Given the description of an element on the screen output the (x, y) to click on. 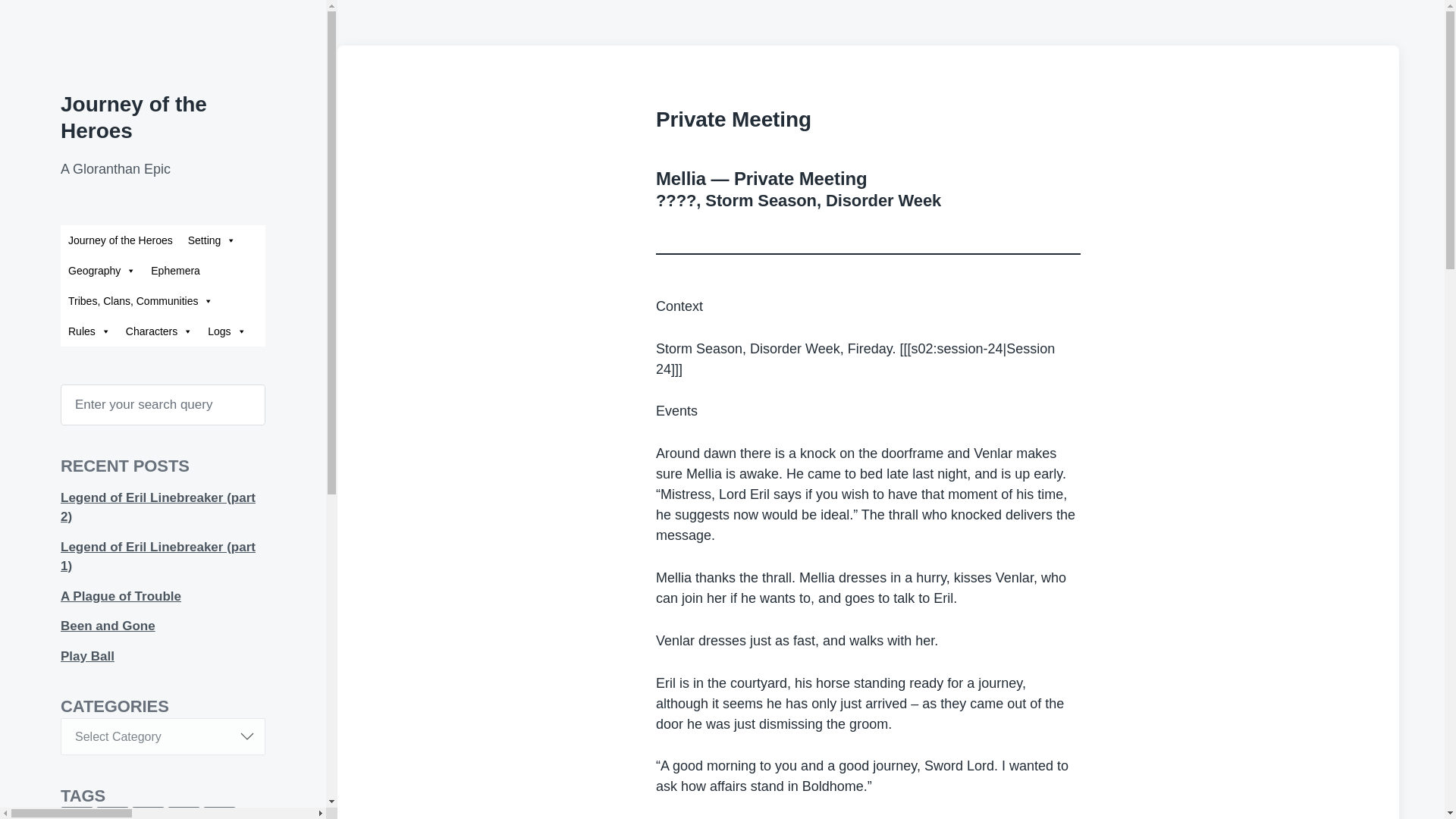
Characters (158, 331)
Journey of the Heroes (120, 240)
Journey of the Heroes (133, 117)
Tribes, Clans, Communities (141, 300)
Geography (101, 270)
Rules (89, 331)
Setting (212, 240)
Ephemera (175, 270)
